Given the description of an element on the screen output the (x, y) to click on. 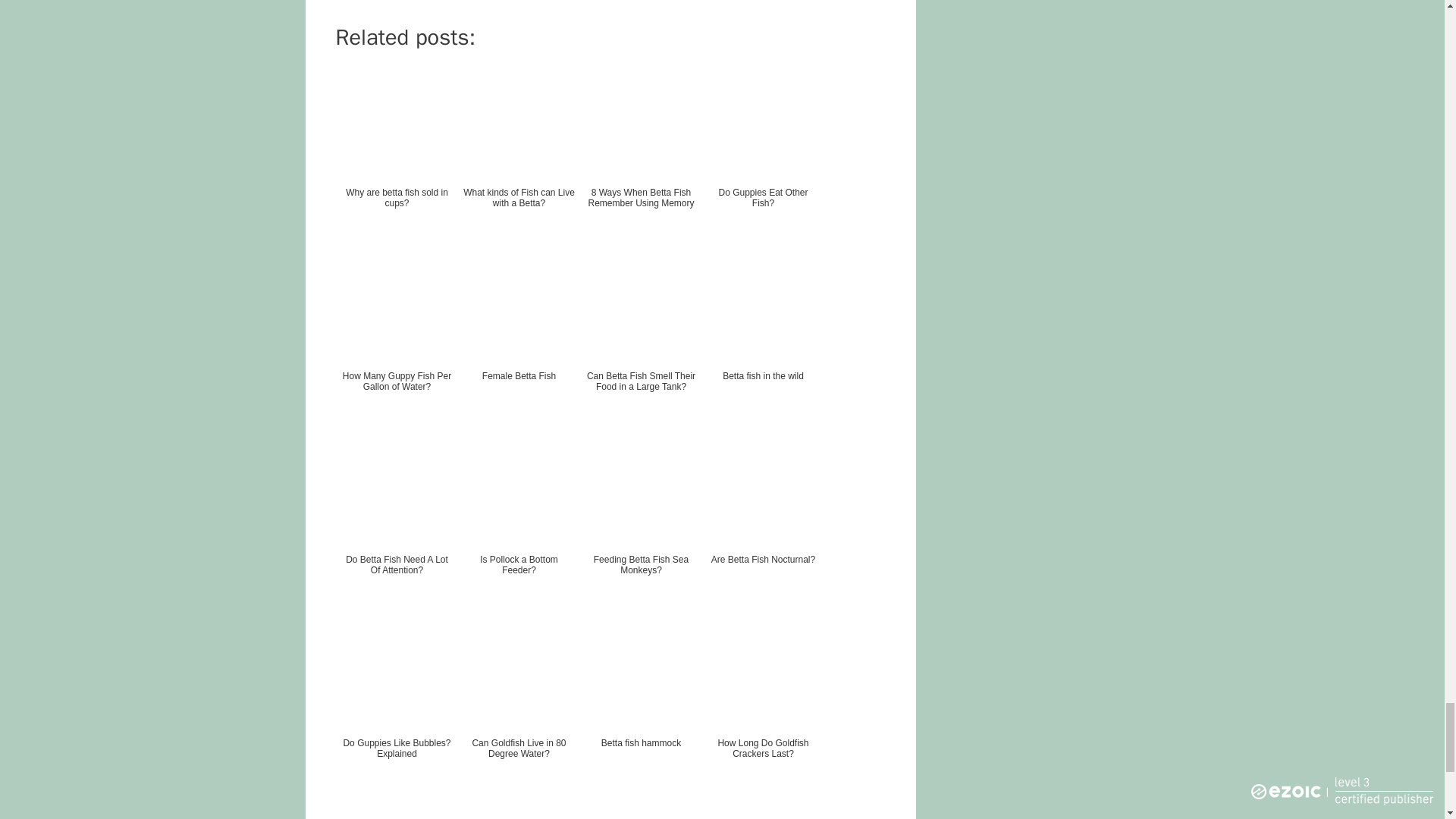
Why are betta fish sold in cups? (396, 156)
What kinds of Fish can Live with a Betta? (519, 156)
8 Ways When Betta Fish Remember Using Memory (640, 156)
